Given the description of an element on the screen output the (x, y) to click on. 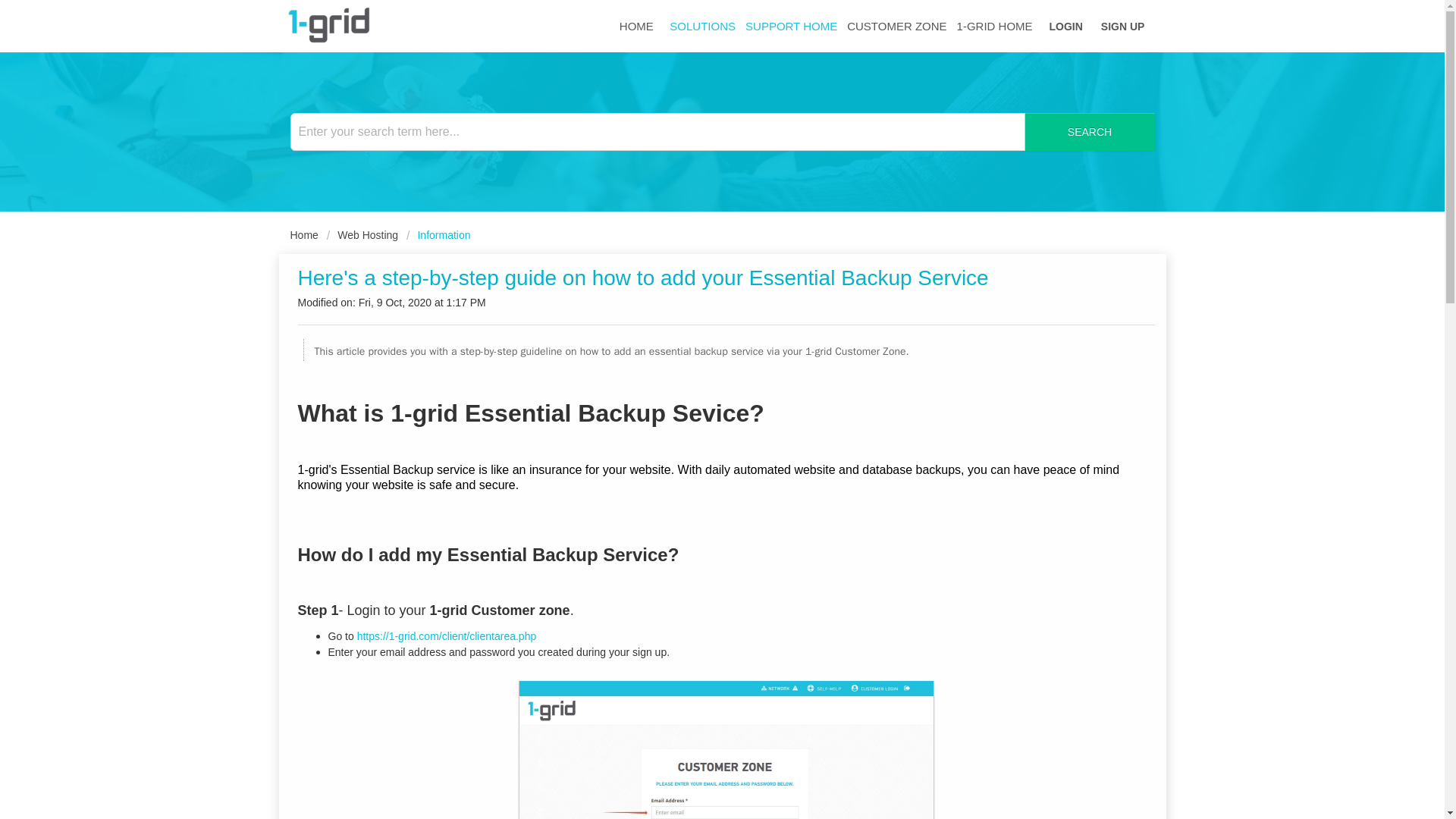
SEARCH (1089, 131)
SIGN UP (1122, 24)
Home (303, 234)
Print this Article (1002, 274)
SUPPORT HOME (792, 23)
SOLUTIONS (703, 23)
Web Hosting (361, 234)
HOME (636, 23)
1-GRID HOME (995, 23)
CUSTOMER ZONE (897, 23)
